Given the description of an element on the screen output the (x, y) to click on. 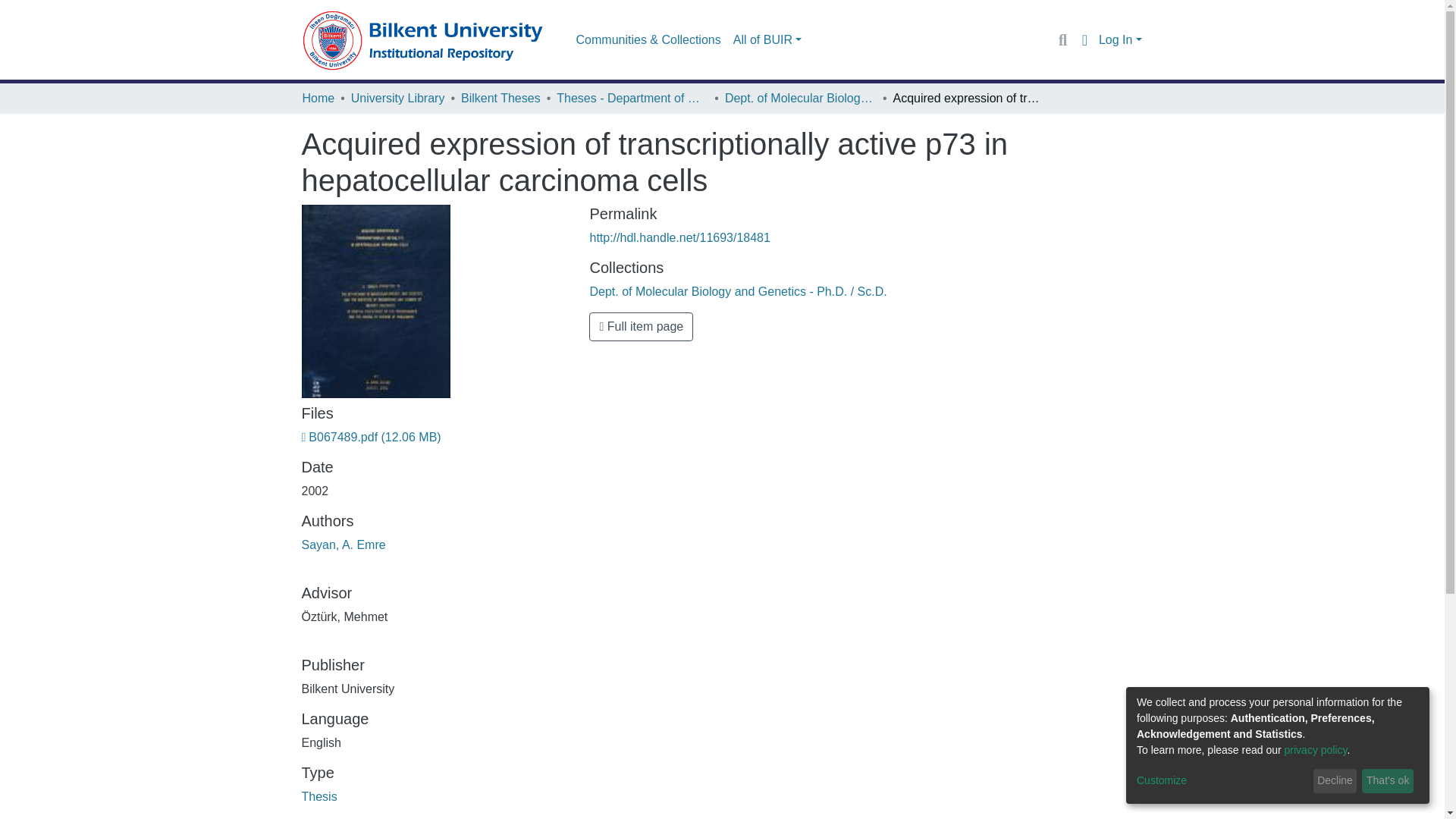
Home (317, 98)
University Library (397, 98)
Bilkent Theses (500, 98)
Theses - Department of Molecular Biology and Genetics (631, 98)
Log In (1119, 39)
Search (1061, 40)
Thesis (319, 796)
Sayan, A. Emre (343, 544)
Full item page (641, 326)
Language switch (1084, 40)
All of BUIR (767, 40)
